Given the description of an element on the screen output the (x, y) to click on. 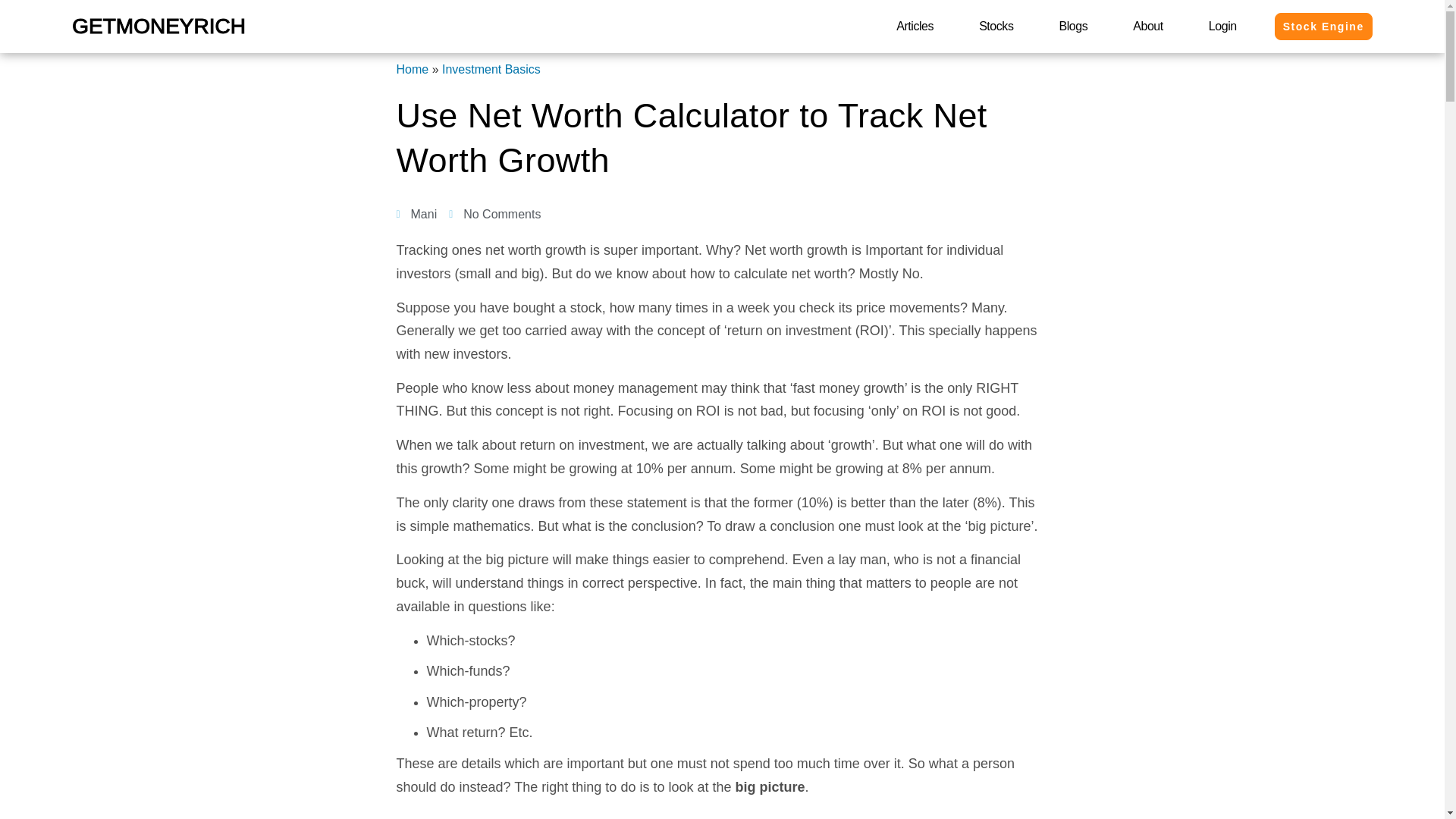
About (1147, 26)
Articles (914, 26)
Login (1222, 26)
Home (412, 69)
Blogs (1072, 26)
Investment Basics (491, 69)
Mani (416, 214)
Stock Engine (1324, 26)
No Comments (494, 214)
GETMONEYRICH (158, 25)
Stocks (995, 26)
